Given the description of an element on the screen output the (x, y) to click on. 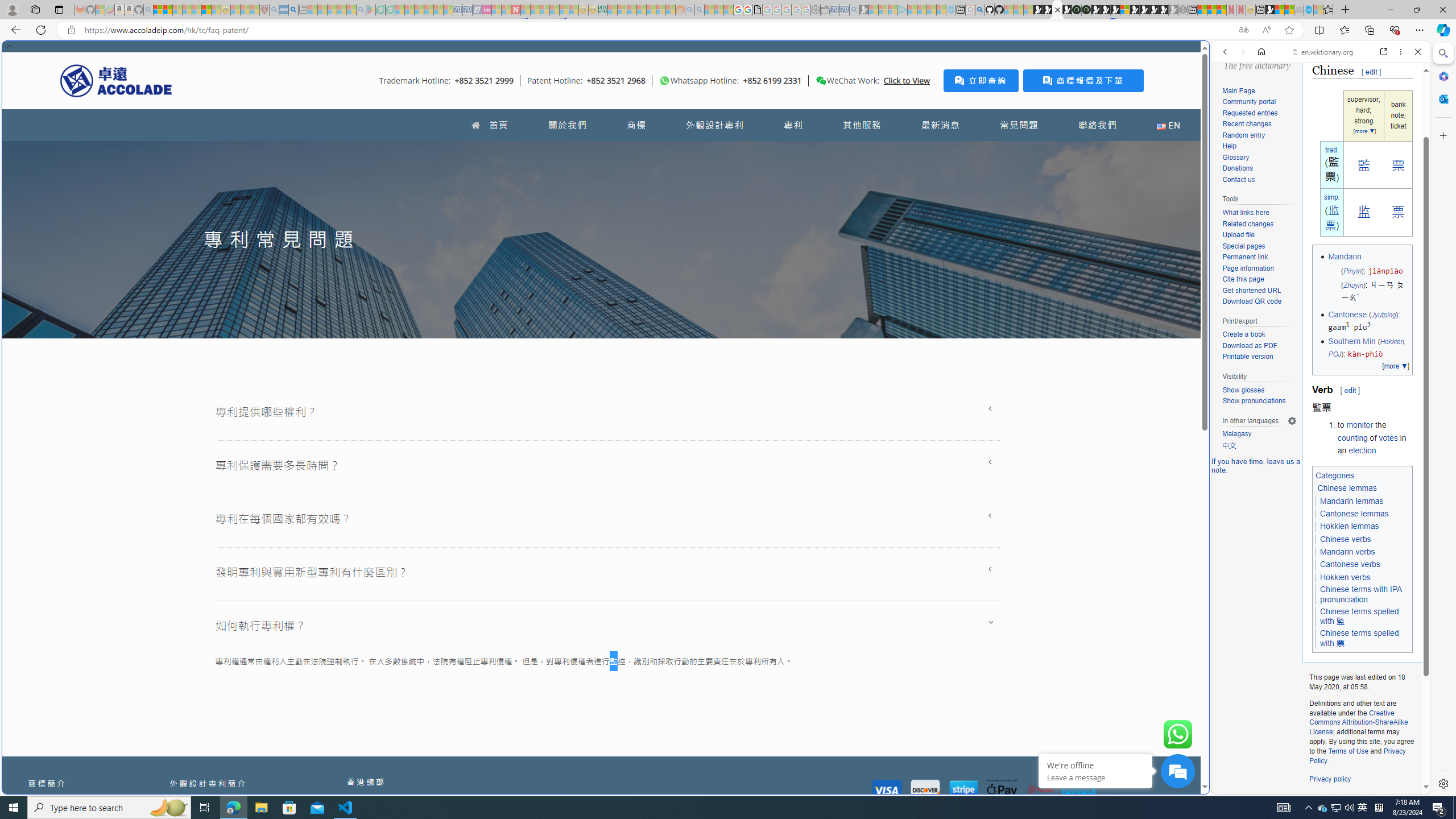
Hokkien lemmas (1349, 526)
Class: desktop (821, 80)
Hokkien (1391, 341)
Mandarin lemmas (1351, 500)
